Given the description of an element on the screen output the (x, y) to click on. 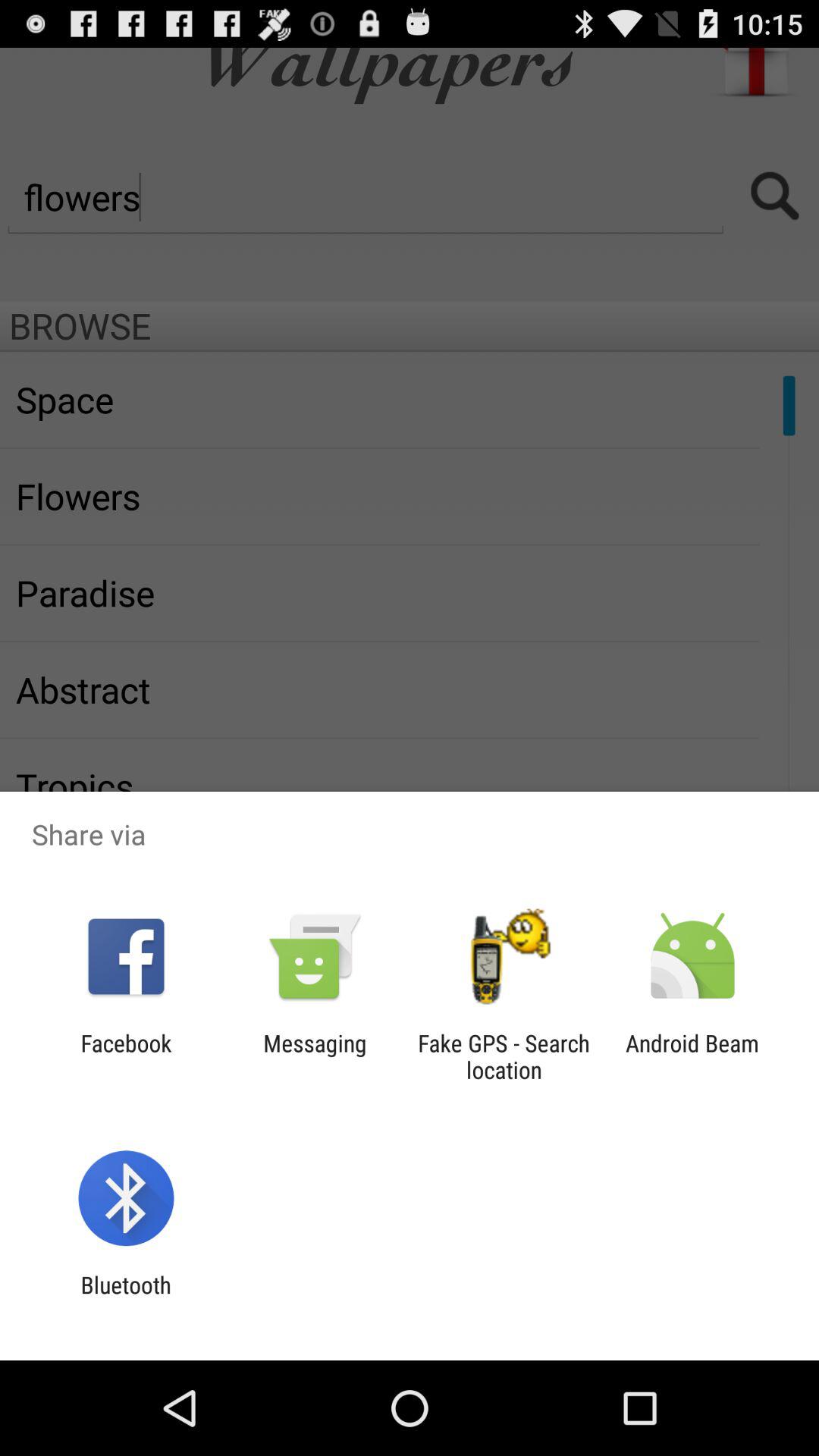
launch the facebook icon (125, 1056)
